Given the description of an element on the screen output the (x, y) to click on. 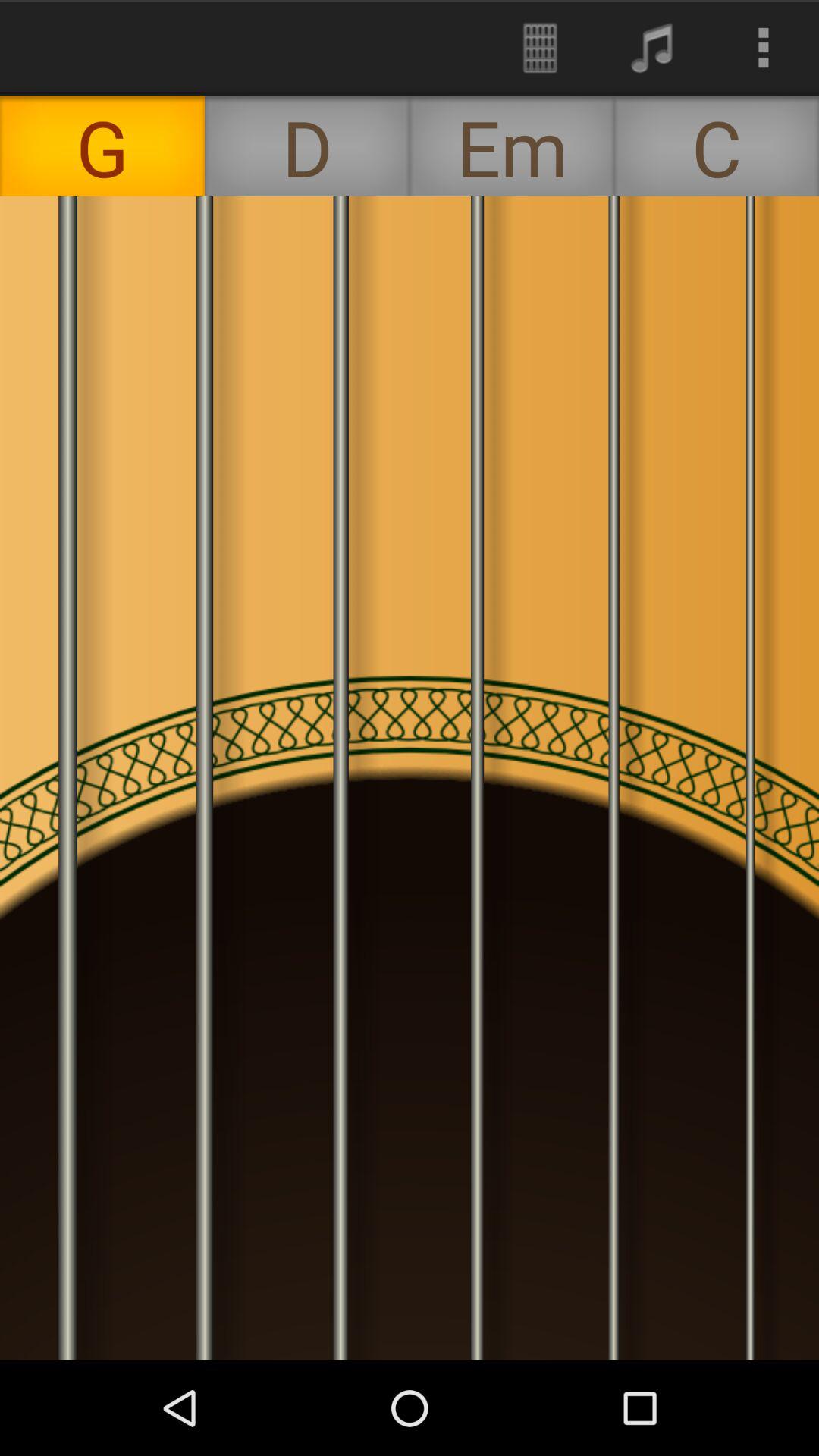
click the item next to d (511, 145)
